Given the description of an element on the screen output the (x, y) to click on. 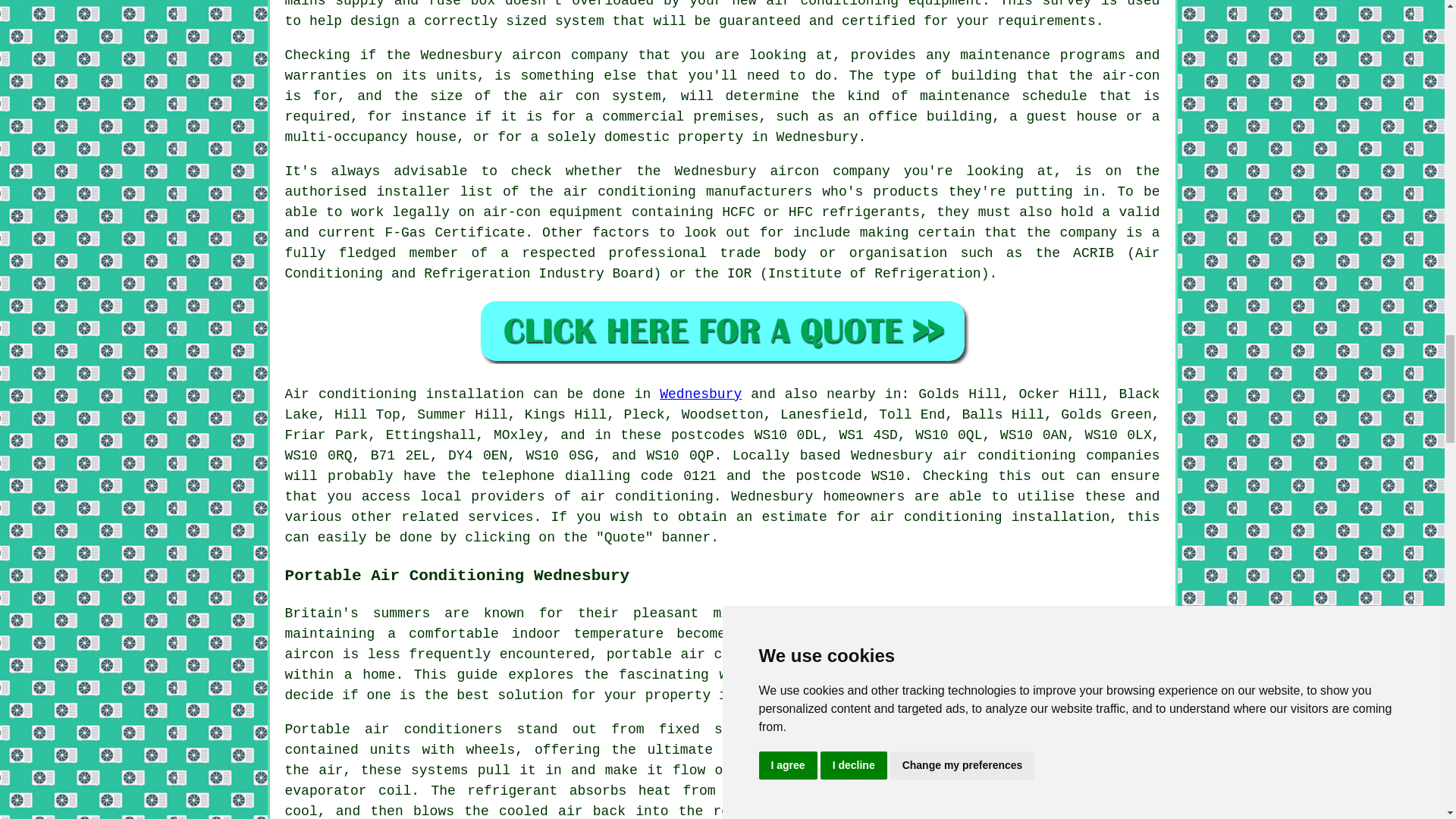
installer (413, 191)
Portable Air Conditioning Wednesbury (1046, 769)
portable air conditioners (901, 674)
air conditioning (646, 496)
Quotes for Air Conditioning Installation in Wednesbury UK (722, 330)
Air conditioning installation (404, 394)
